Given the description of an element on the screen output the (x, y) to click on. 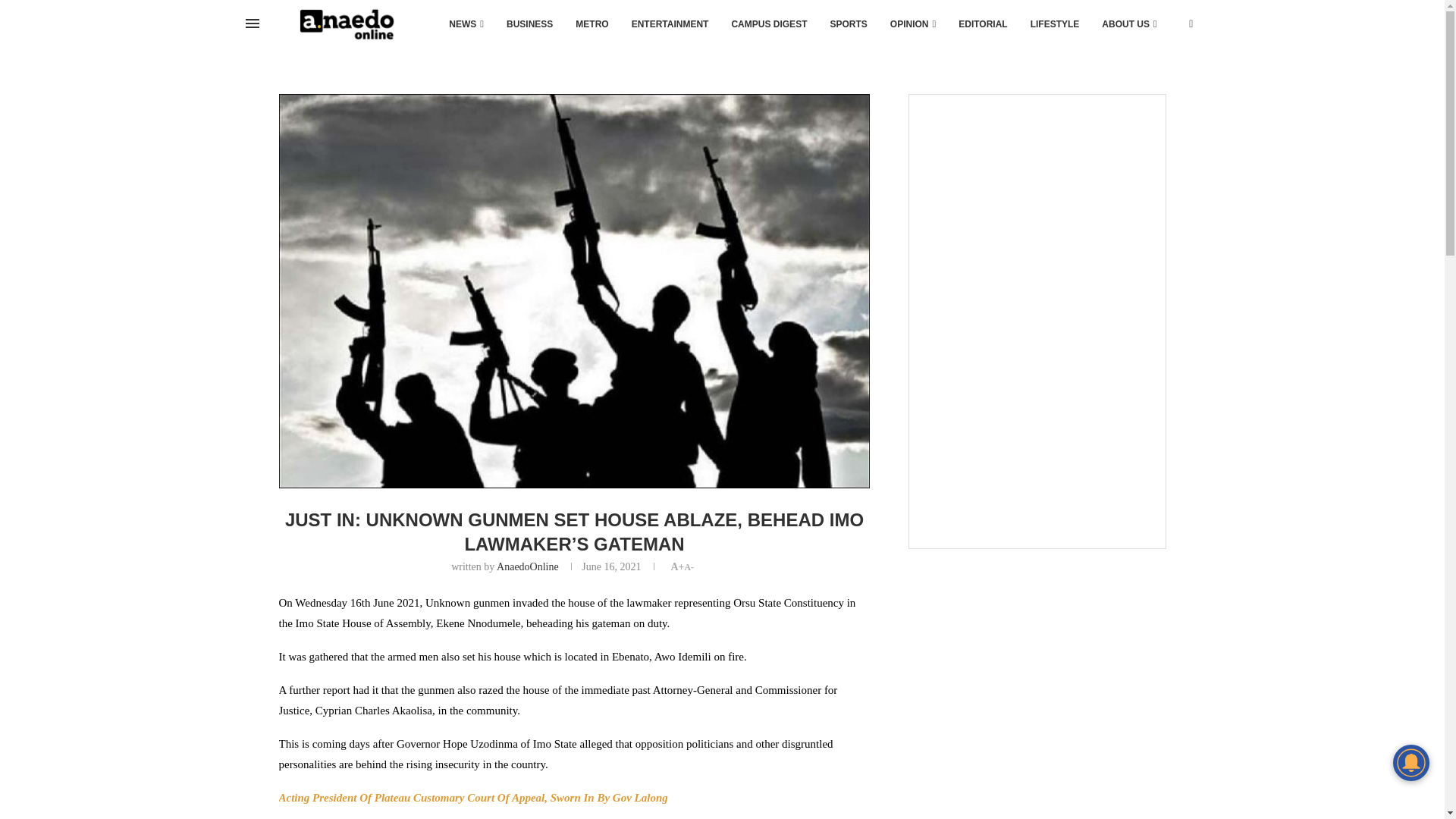
CAMPUS DIGEST (768, 23)
SPORTS (847, 23)
METRO (592, 23)
OPINION (913, 23)
EDITORIAL (982, 23)
NEWS (466, 23)
LIFESTYLE (1054, 23)
ABOUT US (1128, 23)
BUSINESS (529, 23)
ENTERTAINMENT (670, 23)
